Given the description of an element on the screen output the (x, y) to click on. 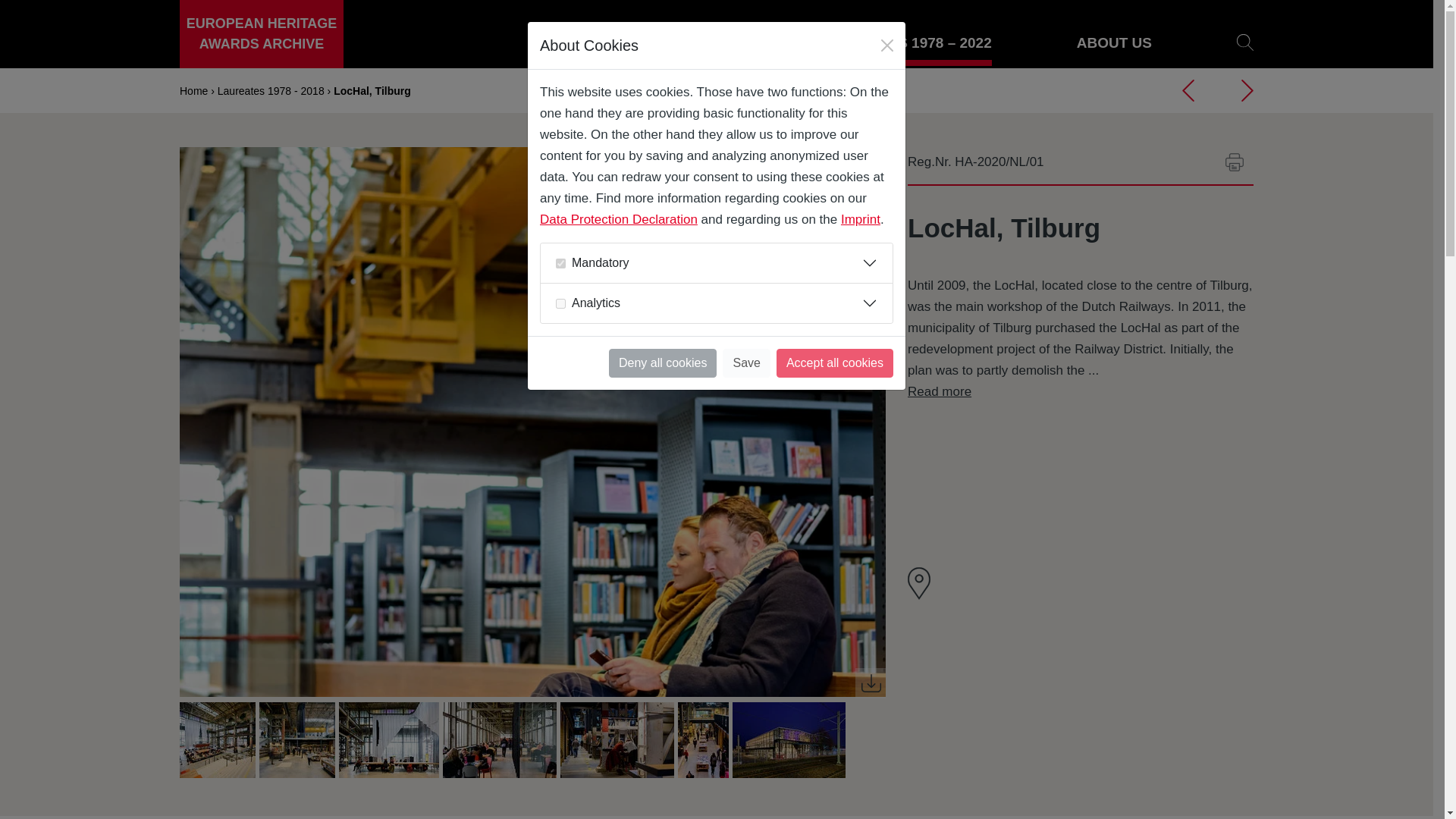
on (561, 303)
Home (261, 33)
ABOUT US (1114, 43)
Next Entry (1247, 89)
on (561, 262)
Previous Entry (1187, 89)
Print (1234, 161)
EUROPEAN HERITAGE AWARDS ARCHIVE (261, 33)
About Us (1114, 43)
Read more (939, 391)
Data Protection Declaration (618, 219)
